Given the description of an element on the screen output the (x, y) to click on. 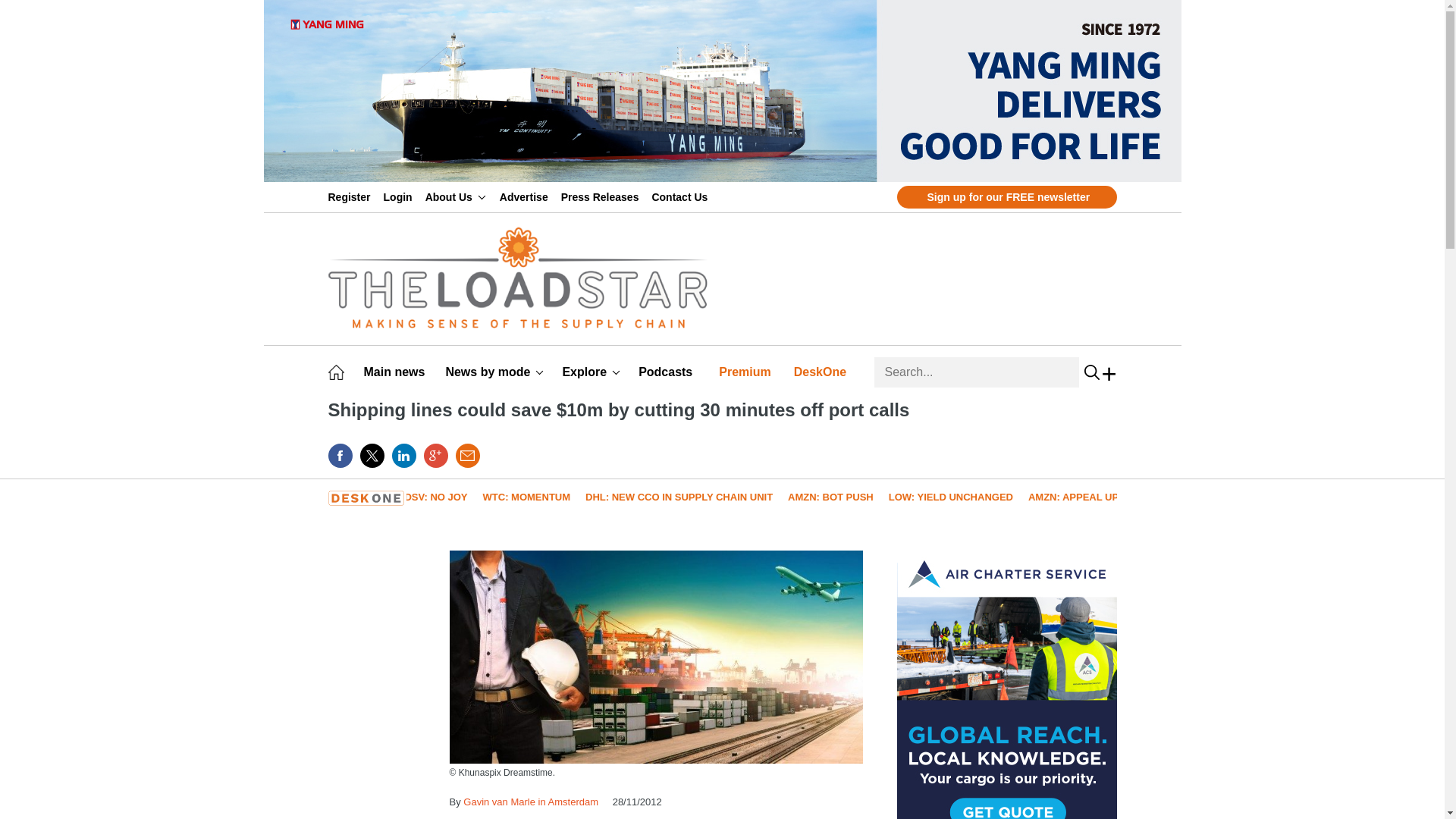
About Us (455, 196)
Contact Us (681, 196)
Premium (747, 371)
Advertise (526, 196)
Login (400, 196)
Press Releases (602, 196)
Register (351, 196)
Register (351, 196)
Explore (591, 371)
Podcasts (668, 371)
